Given the description of an element on the screen output the (x, y) to click on. 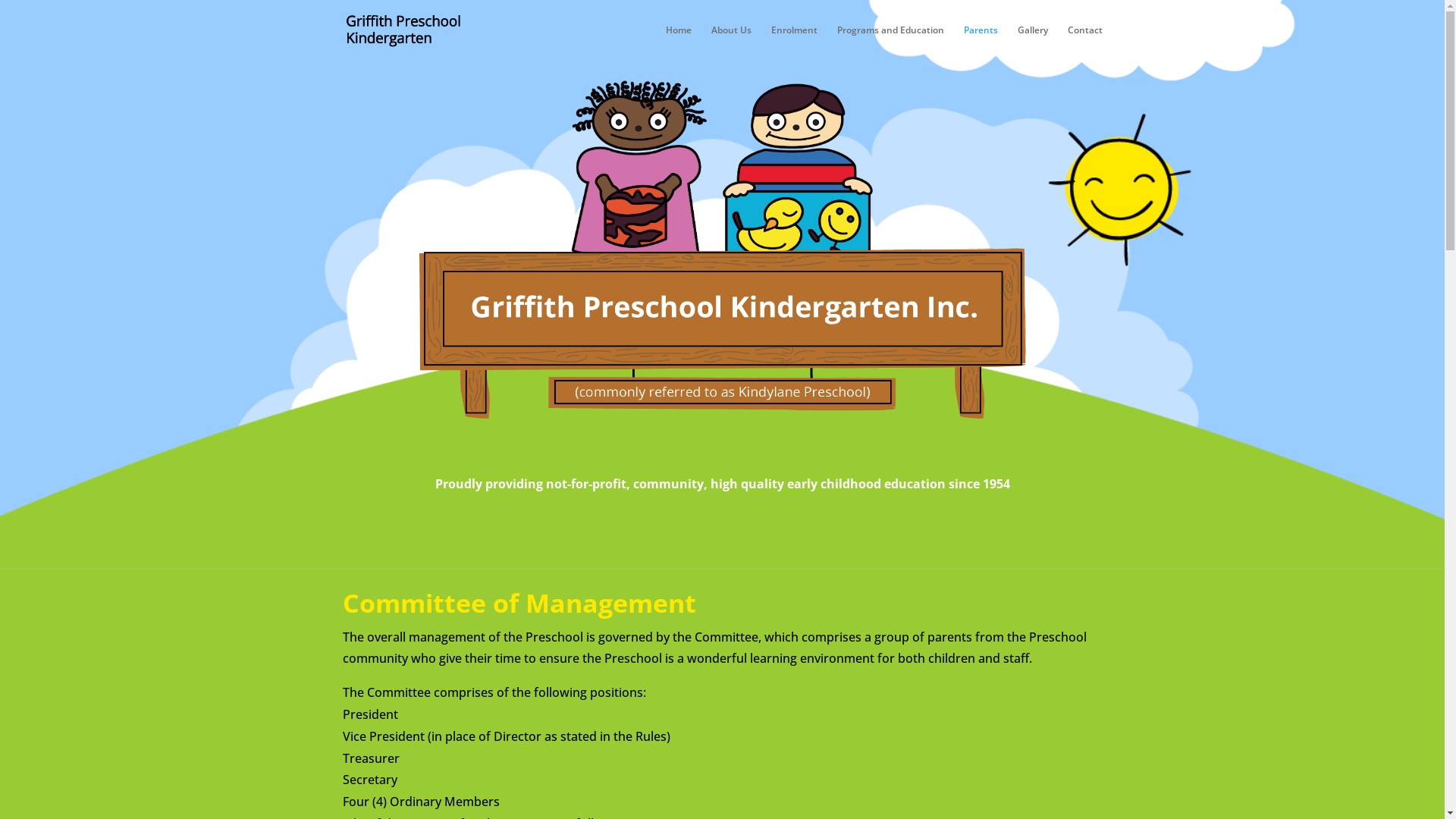
Home Element type: text (678, 42)
Parents Element type: text (980, 42)
Contact Element type: text (1084, 42)
About Us Element type: text (731, 42)
Programs and Education Element type: text (890, 42)
Enrolment Element type: text (793, 42)
Gallery Element type: text (1032, 42)
